Given the description of an element on the screen output the (x, y) to click on. 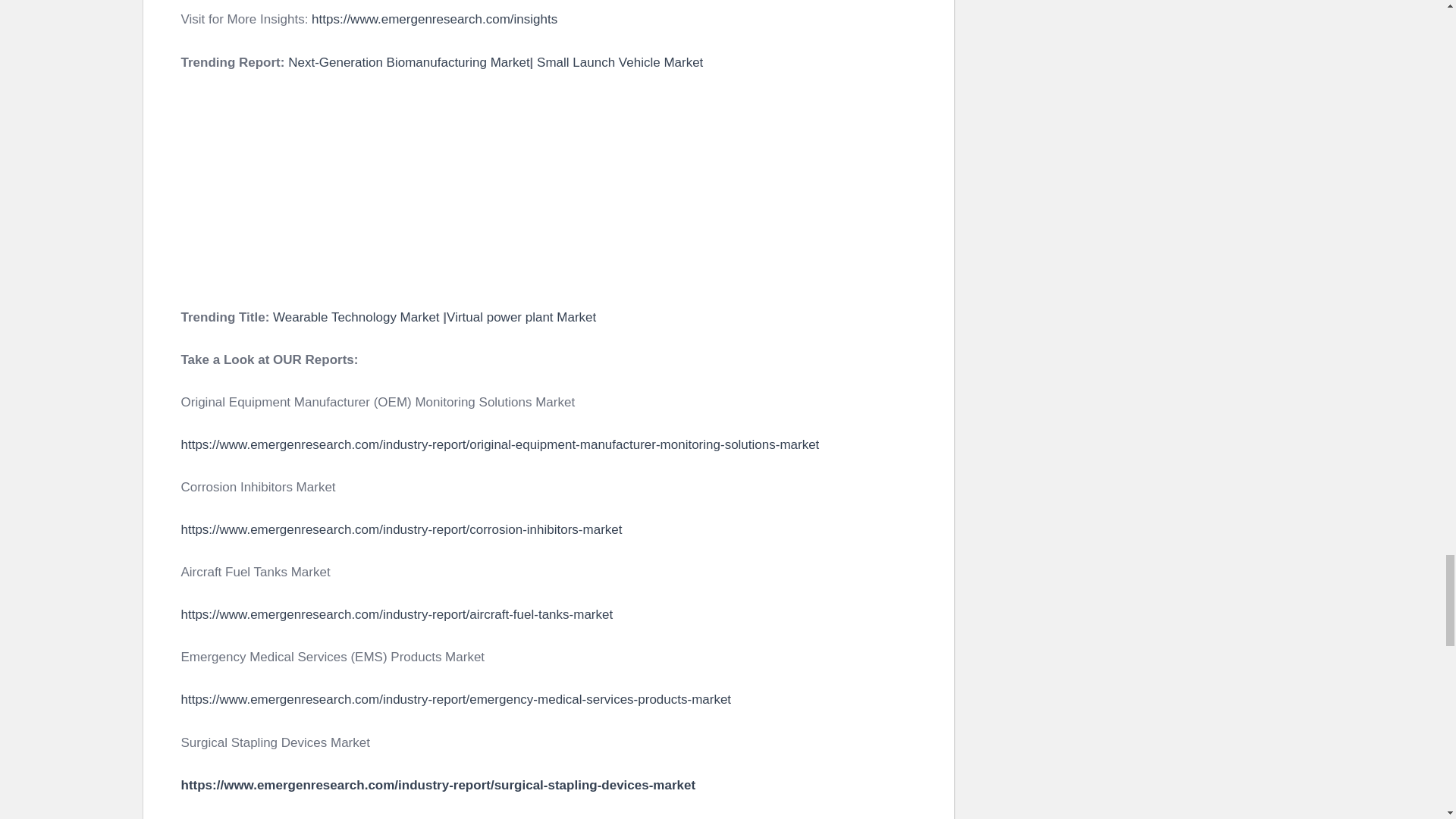
Small Launch Vehicle Market (620, 61)
Virtual power plant Market (520, 317)
Wearable Technology Market (356, 317)
Next-Generation Biomanufacturing Market (408, 61)
